Given the description of an element on the screen output the (x, y) to click on. 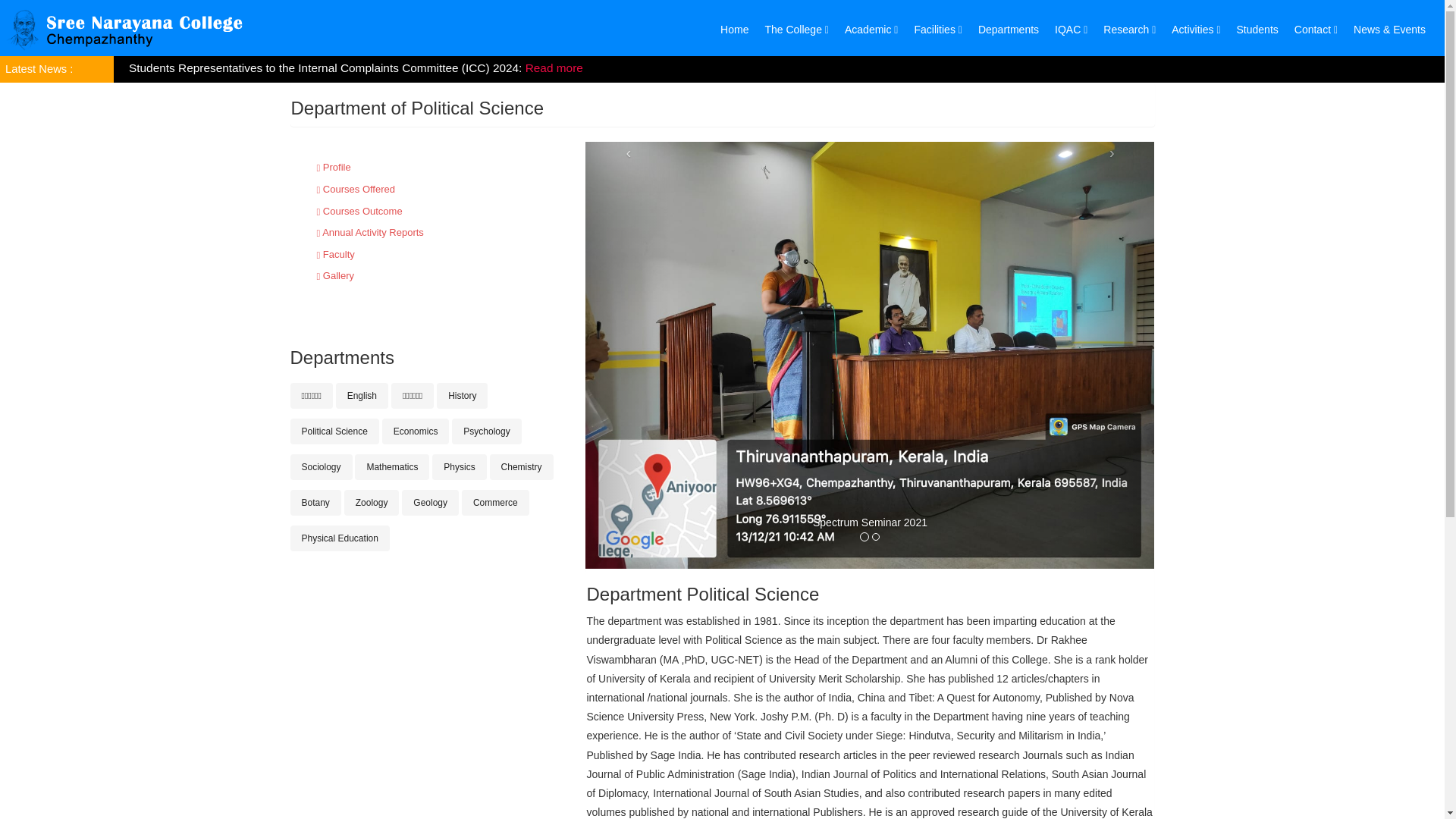
Academic (871, 29)
Home (734, 29)
Academic (871, 29)
Facilities (937, 29)
The College (796, 29)
IQAC (1070, 29)
The College (796, 29)
Facilities (937, 29)
